Given the description of an element on the screen output the (x, y) to click on. 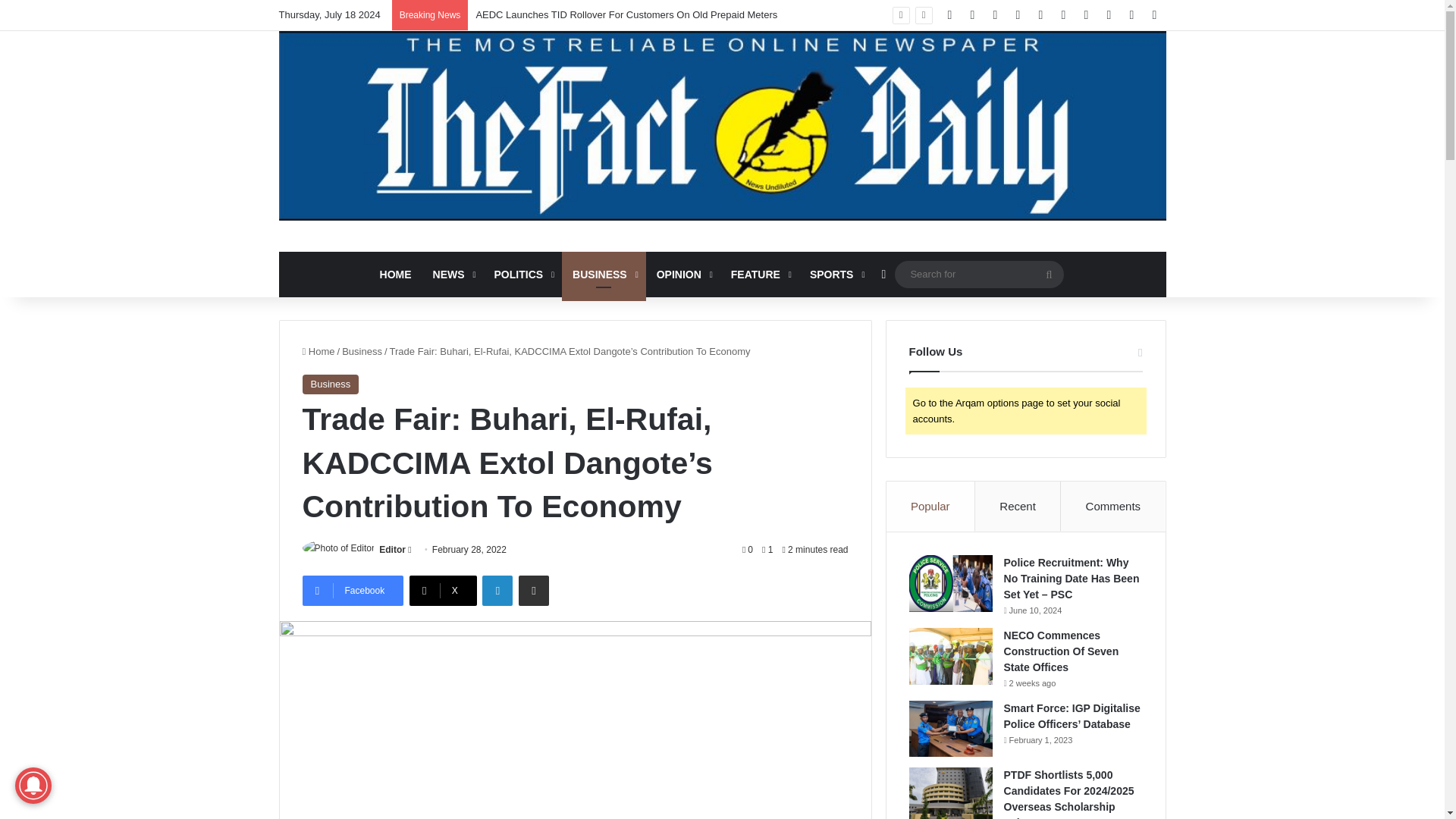
POLITICS (522, 274)
X (972, 15)
Share via Email (533, 590)
Random Article (1131, 15)
Log In (1109, 15)
BUSINESS (604, 274)
YouTube (1018, 15)
Editor (392, 549)
NEWS (452, 274)
Random Article (1131, 15)
Instagram (1040, 15)
Facebook (352, 590)
Random Article (883, 274)
X (443, 590)
HOME (395, 274)
